Given the description of an element on the screen output the (x, y) to click on. 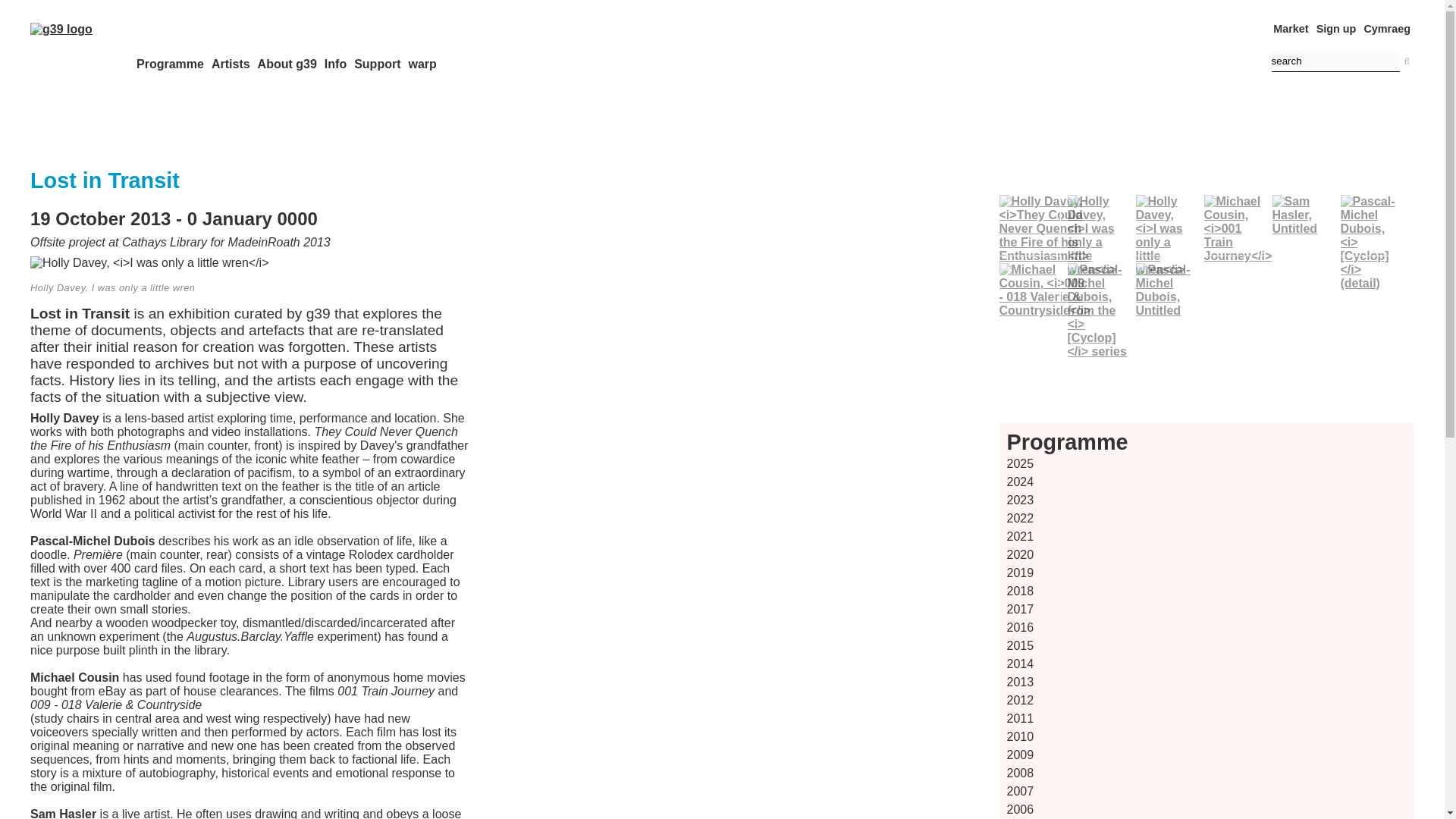
Sign up (1336, 28)
Artists (230, 63)
Sam Hasler, Untitled (1302, 214)
search (1335, 61)
About g39 (287, 63)
Info (335, 63)
go (1406, 60)
warp (421, 63)
Support (376, 63)
Programme (169, 63)
Pascal-Michel Dubois, Untitled (1165, 289)
g39 home (61, 29)
Cymraeg (1386, 28)
Market (1289, 28)
